Given the description of an element on the screen output the (x, y) to click on. 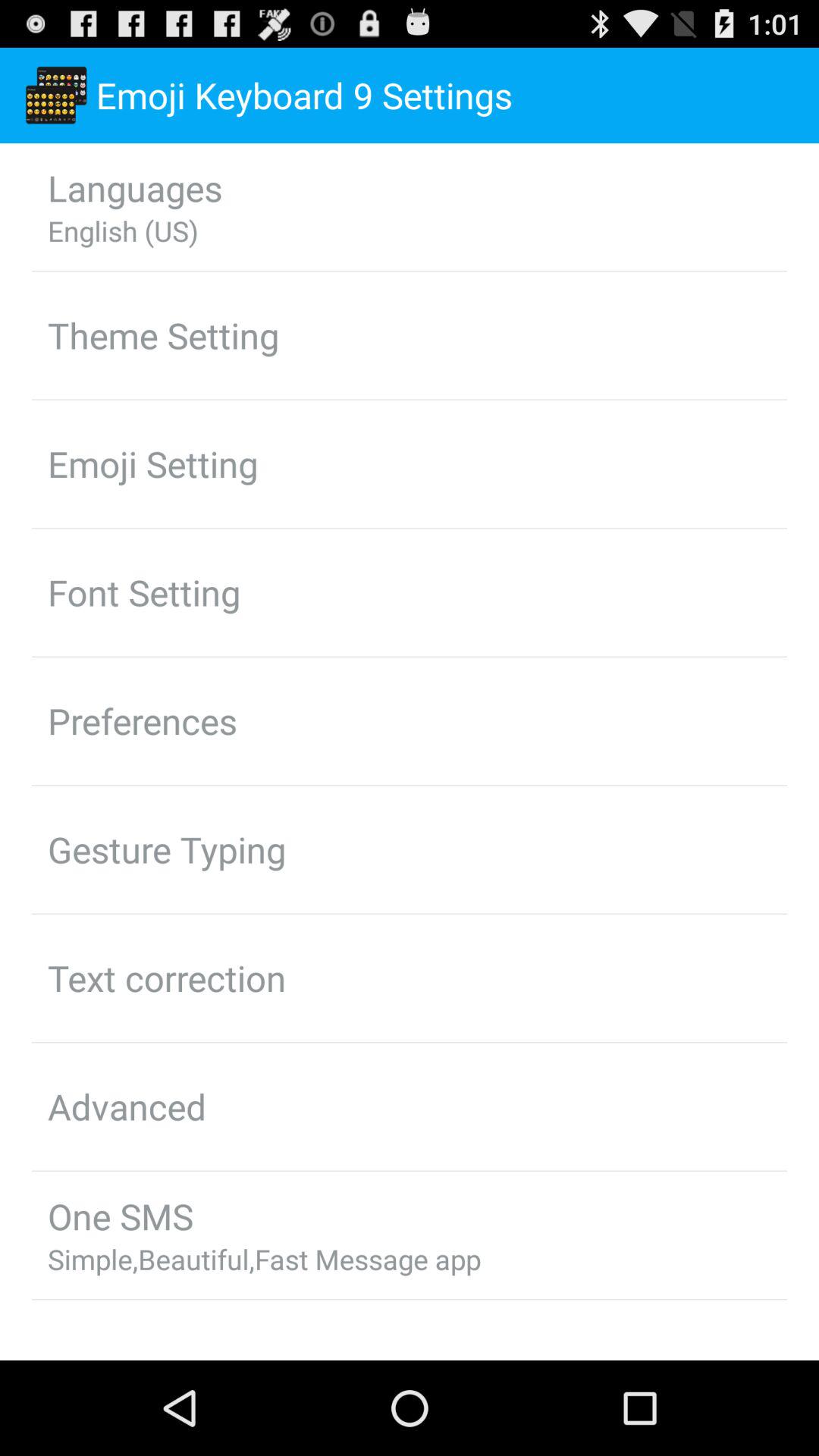
turn on gesture typing app (166, 849)
